Given the description of an element on the screen output the (x, y) to click on. 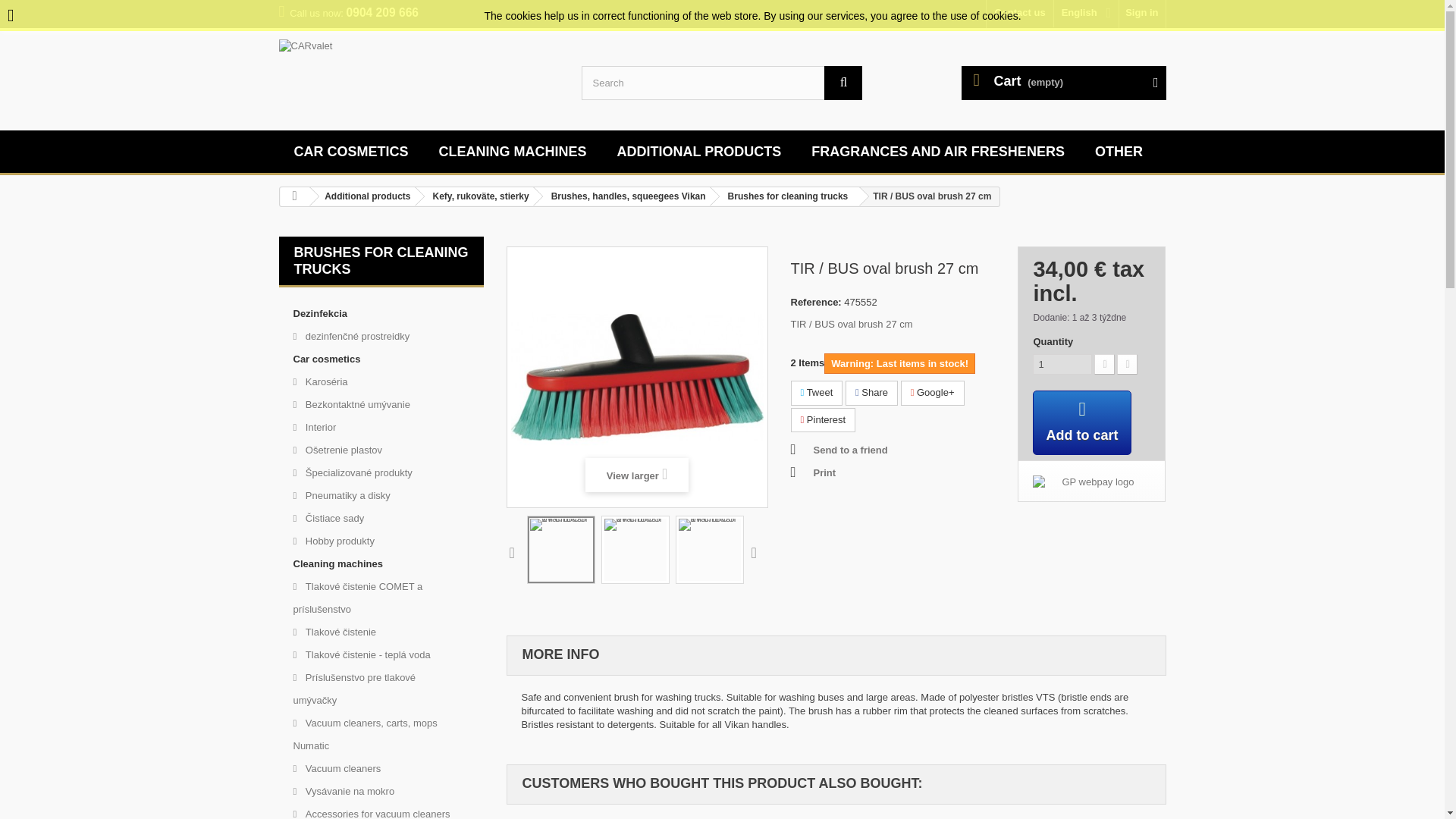
ADDITIONAL PRODUCTS (699, 152)
CLEANING MACHINES (512, 152)
CARvalet (419, 77)
View my shopping cart (1063, 82)
Car cosmetics (351, 152)
1 (1062, 363)
Contact us (1019, 13)
Sign in (1141, 13)
Log in to your customer account (1141, 13)
Contact us (1019, 13)
